Given the description of an element on the screen output the (x, y) to click on. 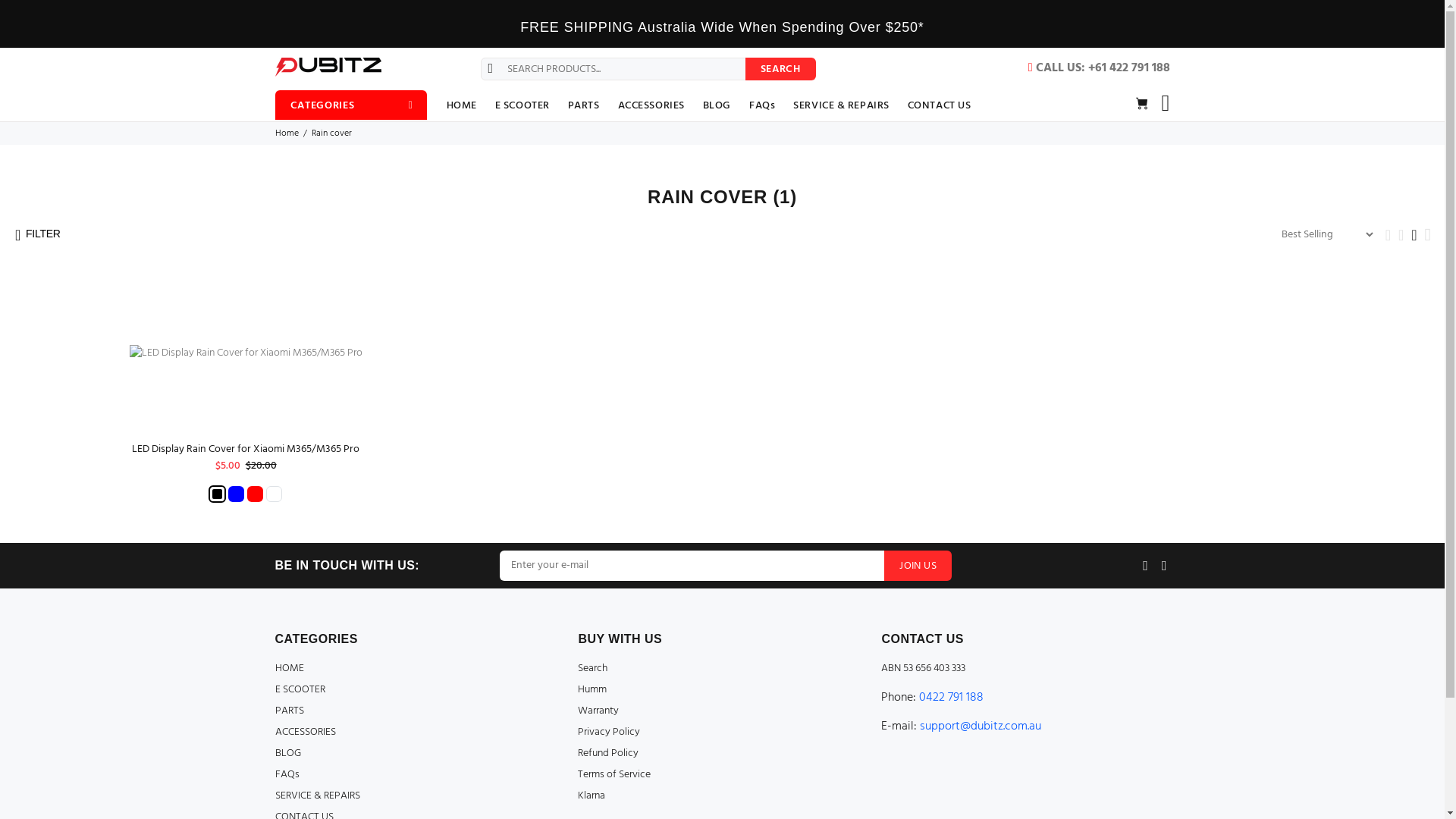
LED Display Rain Cover for Xiaomi M365/M365 Pro Element type: text (245, 449)
E SCOOTER Element type: text (299, 689)
Klarna Element type: text (591, 795)
JOIN US Element type: text (917, 565)
HOME Element type: text (465, 104)
PARTS Element type: text (583, 104)
E SCOOTER Element type: text (522, 104)
Search Element type: text (592, 668)
ACCESSORIES Element type: text (304, 732)
support@dubitz.com.au Element type: text (980, 726)
SERVICE & REPAIRS Element type: text (316, 795)
Privacy Policy Element type: text (608, 732)
FAQs Element type: text (762, 104)
BLOG Element type: text (287, 753)
Refund Policy Element type: text (607, 753)
PARTS Element type: text (288, 710)
Home Element type: text (286, 133)
SEARCH Element type: text (779, 68)
FAQs Element type: text (286, 774)
HOME Element type: text (288, 668)
CALL US: +61 422 791 188 Element type: text (1099, 68)
0422 791 188 Element type: text (951, 697)
FILTER Element type: text (37, 232)
Terms of Service Element type: text (613, 774)
Humm Element type: text (591, 689)
ACCESSORIES Element type: text (650, 104)
BLOG Element type: text (716, 104)
CONTACT US Element type: text (934, 104)
SERVICE & REPAIRS Element type: text (841, 104)
Warranty Element type: text (597, 710)
CATEGORIES Element type: text (350, 104)
